Given the description of an element on the screen output the (x, y) to click on. 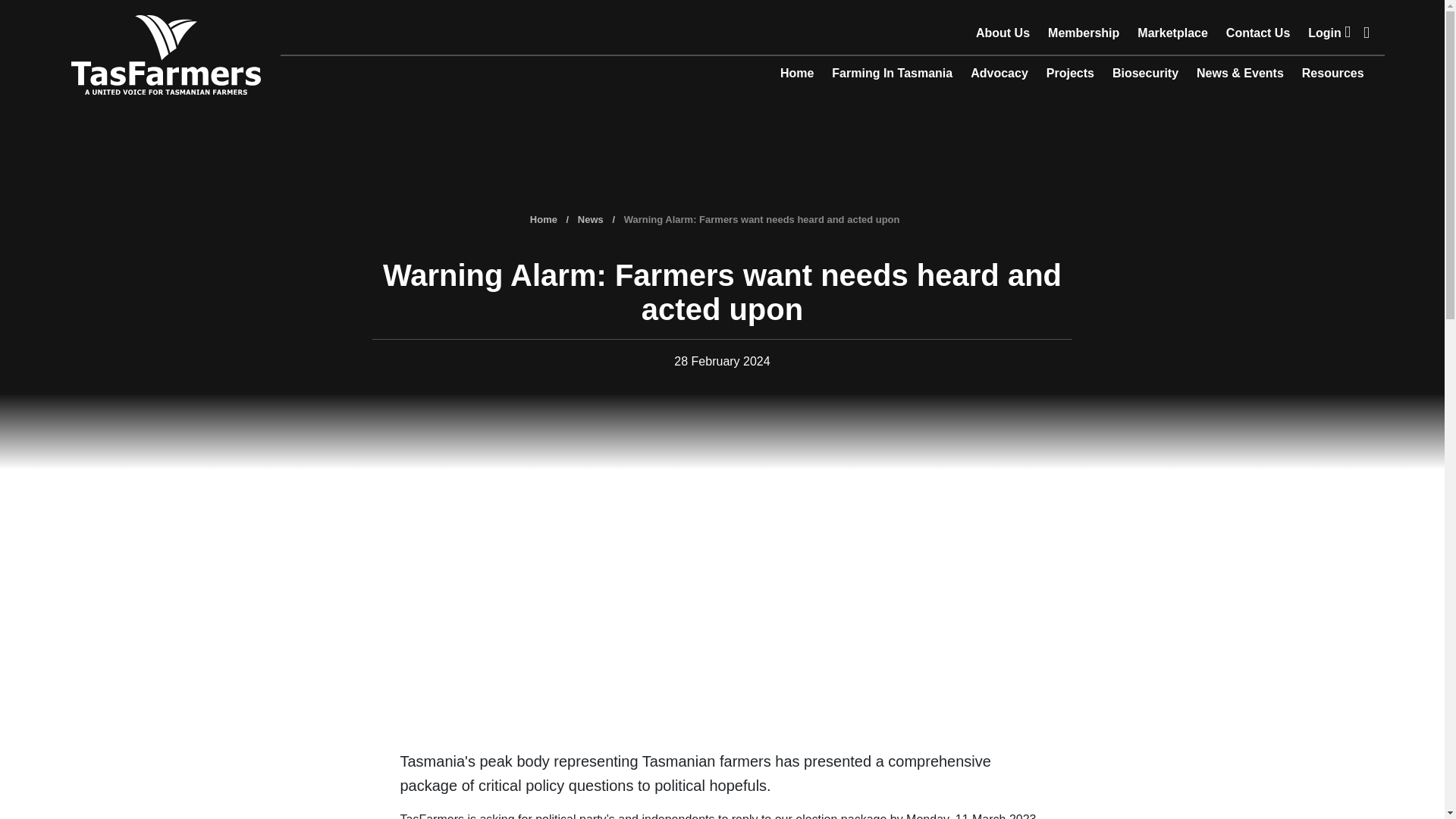
Farming In Tasmania (891, 75)
Login (1328, 34)
Biosecurity (1145, 75)
YouTube video player (721, 611)
Contact Us (1257, 34)
Home (796, 75)
Membership (1083, 34)
Projects (1069, 75)
About Us (1002, 34)
Marketplace (1172, 34)
